Given the description of an element on the screen output the (x, y) to click on. 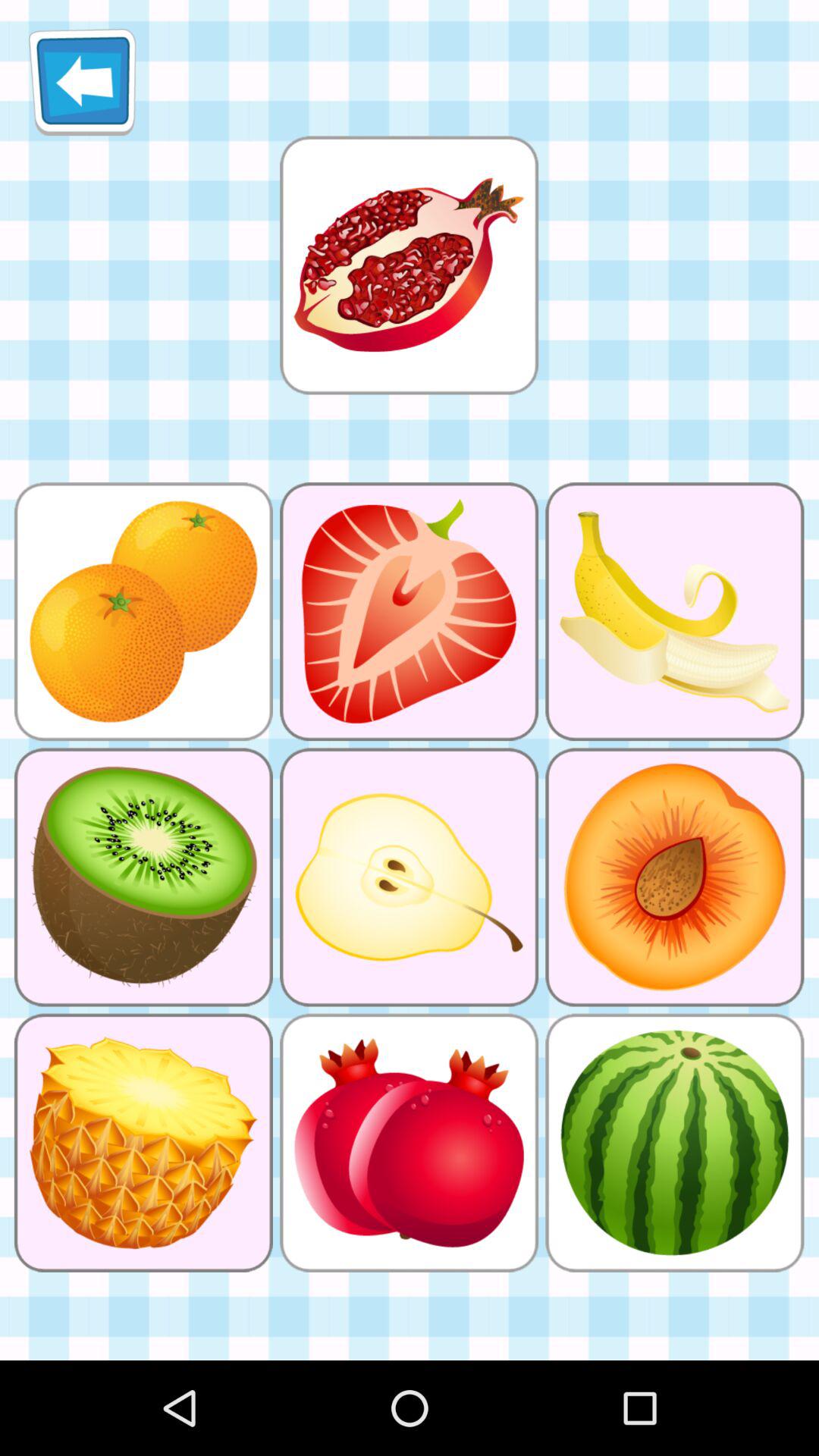
go back (82, 82)
